Given the description of an element on the screen output the (x, y) to click on. 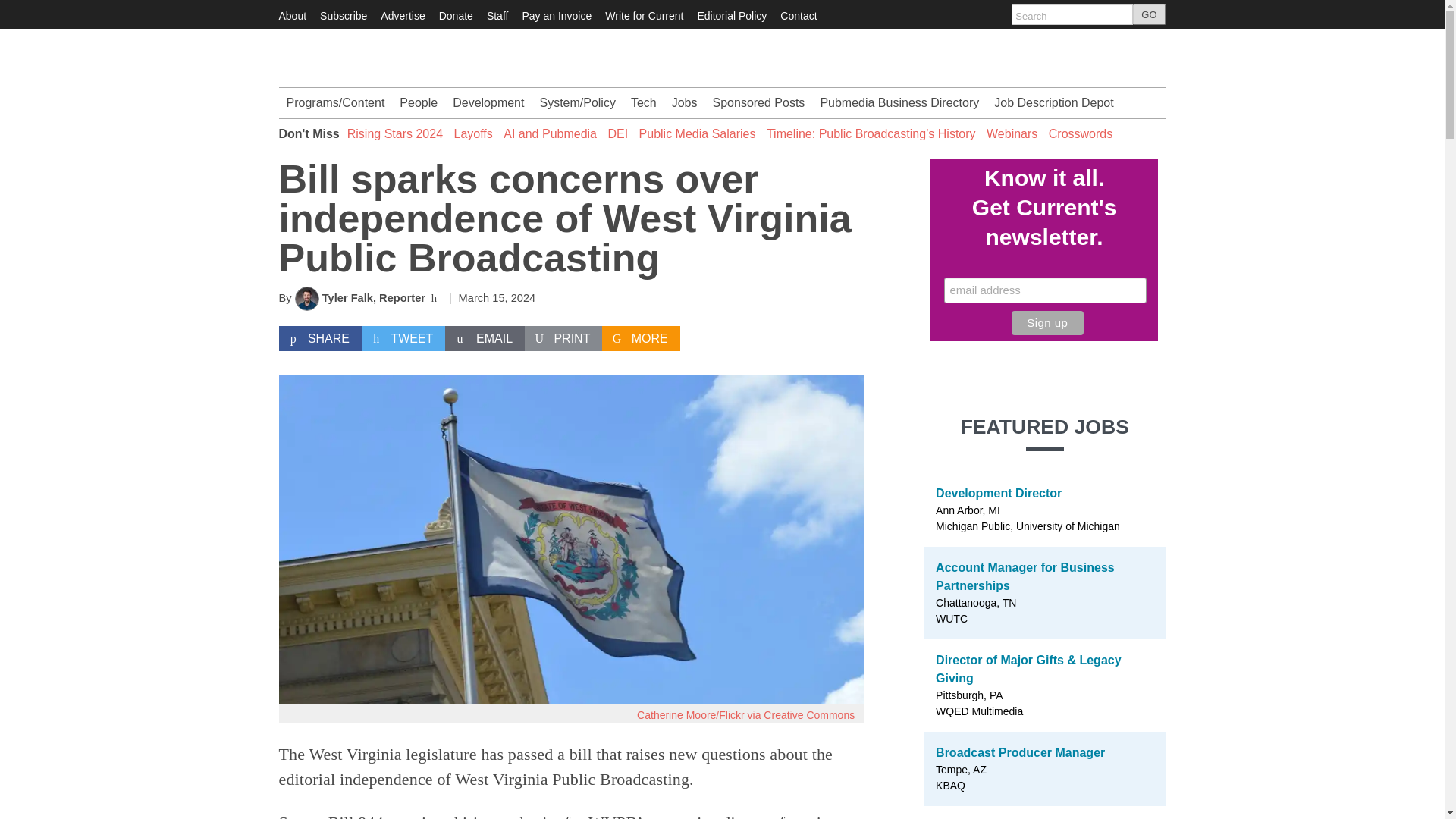
Contact (798, 15)
Print this article (563, 338)
GO (1149, 14)
Staff (497, 15)
People (418, 102)
Donate (456, 15)
Editorial Policy (732, 15)
Advertise (402, 15)
About (293, 15)
Pay an Invoice (556, 15)
